Given the description of an element on the screen output the (x, y) to click on. 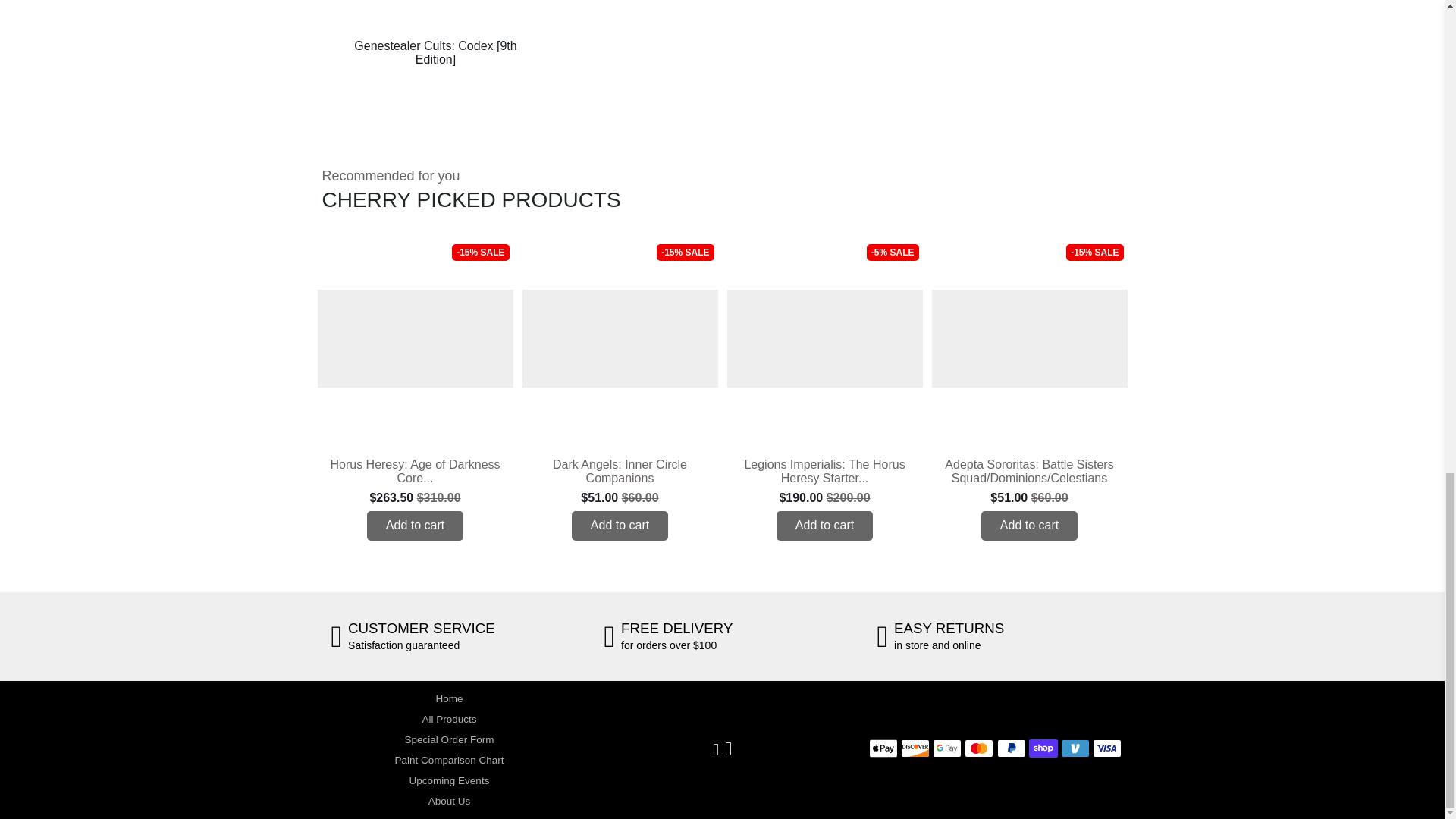
Venmo (1075, 748)
Google Pay (946, 748)
Shop Pay (1043, 748)
Mastercard (977, 748)
PayPal (1011, 748)
Discover (915, 748)
Visa (1107, 748)
Apple Pay (883, 748)
